Given the description of an element on the screen output the (x, y) to click on. 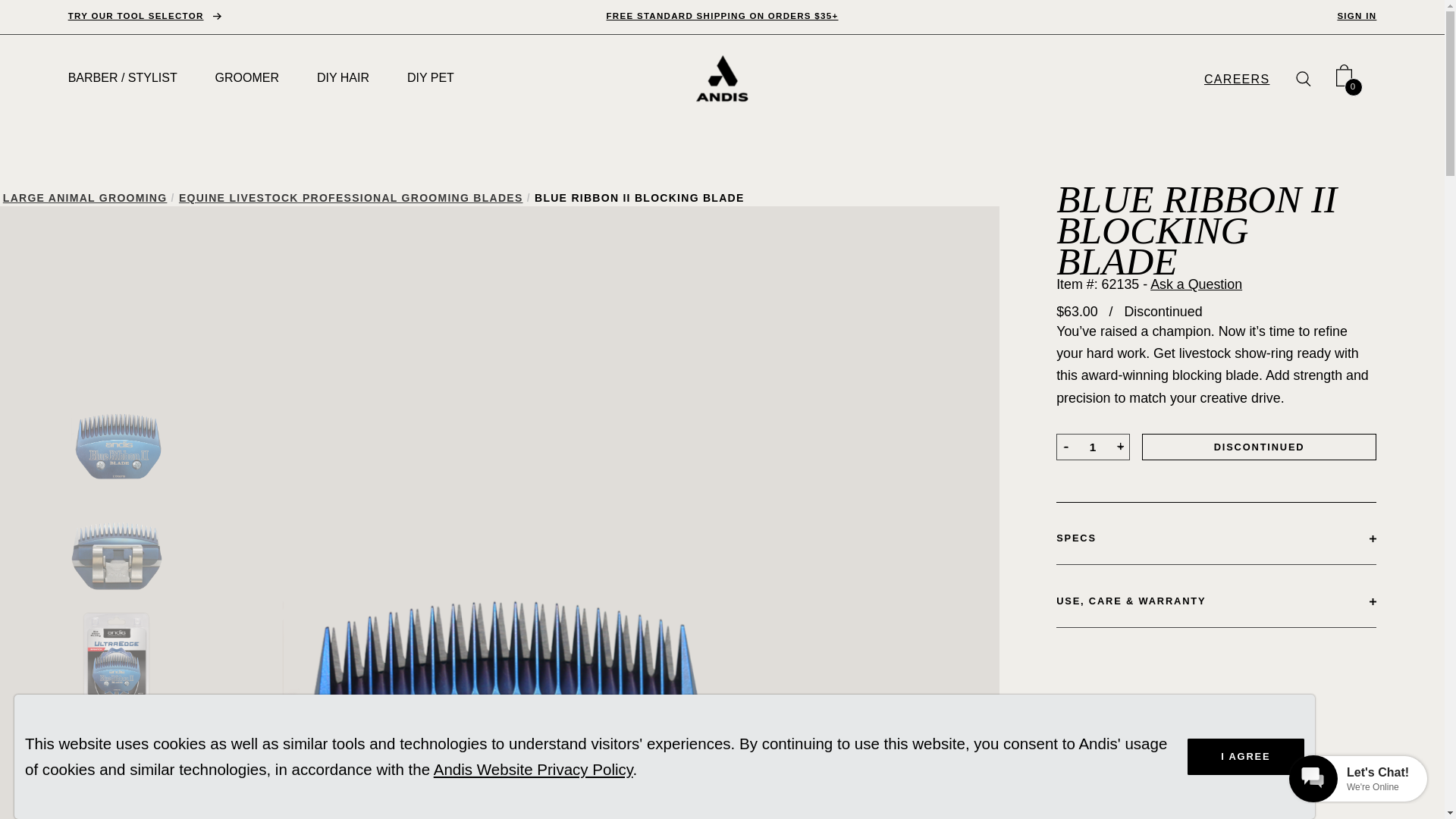
GROOMER (247, 77)
SIGN IN (1355, 15)
Andis Website Privacy Policy (533, 769)
TRY OUR TOOL SELECTOR (144, 15)
Tool Selector link (144, 15)
Go to contact page to ask a question about this product (1195, 283)
Return to homepage on Andis.com (722, 78)
1 (1093, 447)
I AGREE (1246, 756)
